Given the description of an element on the screen output the (x, y) to click on. 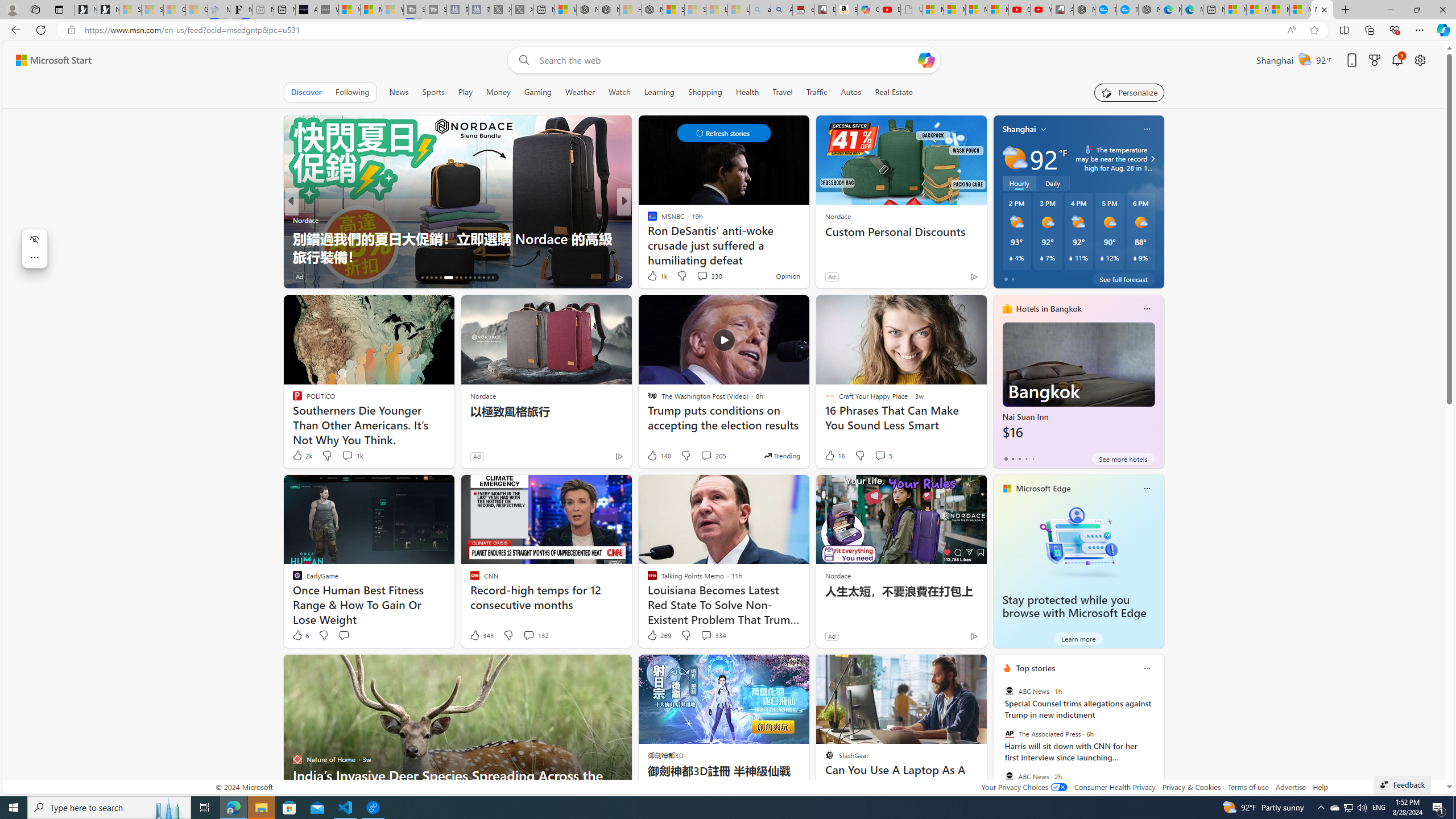
View comments 96 Comment (707, 276)
Partly sunny (1014, 158)
View comments 33 Comment (698, 276)
View comments 55 Comment (704, 276)
AutomationID: tab-28 (483, 277)
Class: control (723, 132)
Partly sunny (1014, 158)
tab-3 (1025, 458)
View comments 330 Comment (708, 275)
View comments 205 Comment (705, 455)
